Given the description of an element on the screen output the (x, y) to click on. 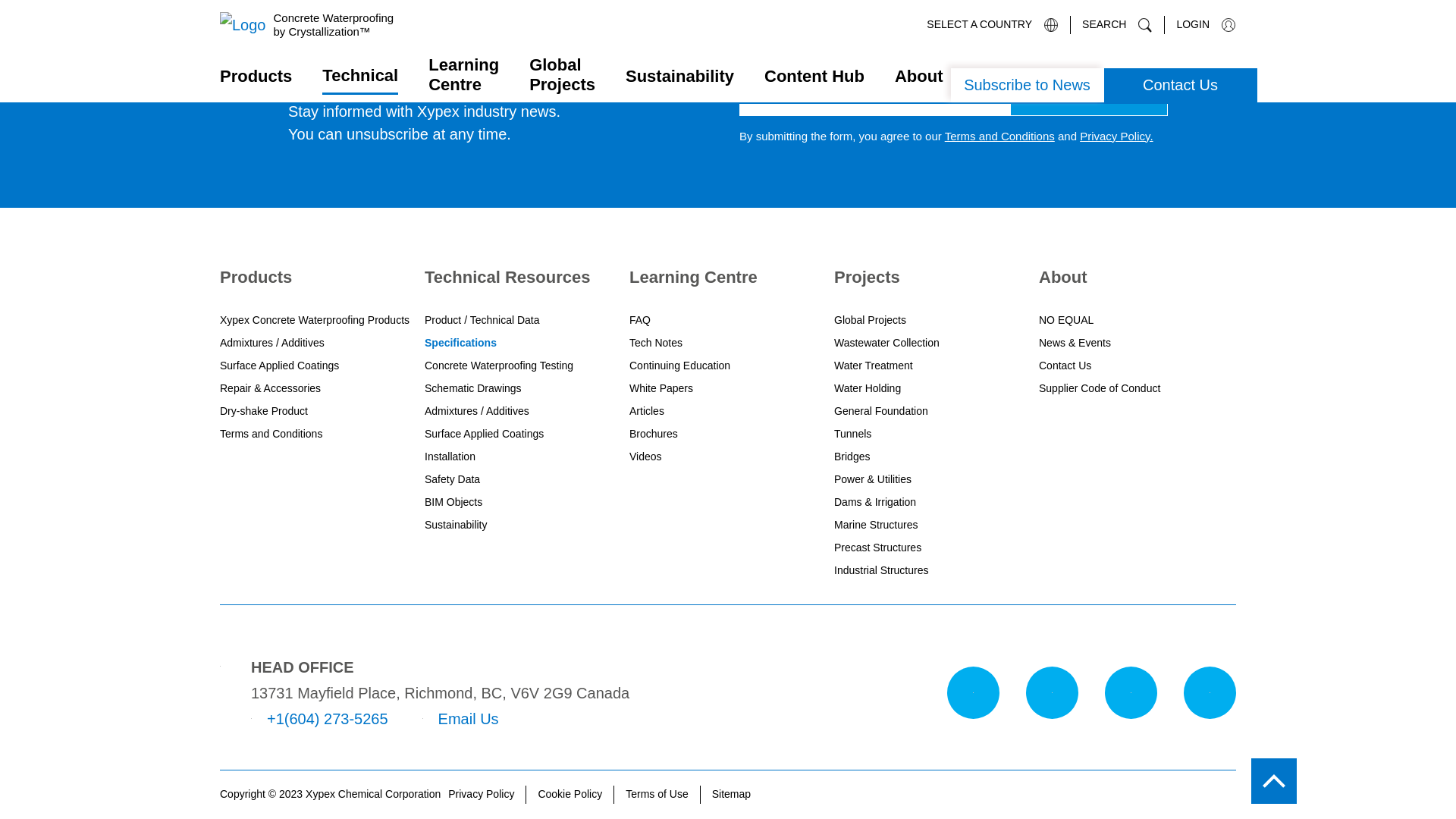
Sign up (1088, 95)
